Given the description of an element on the screen output the (x, y) to click on. 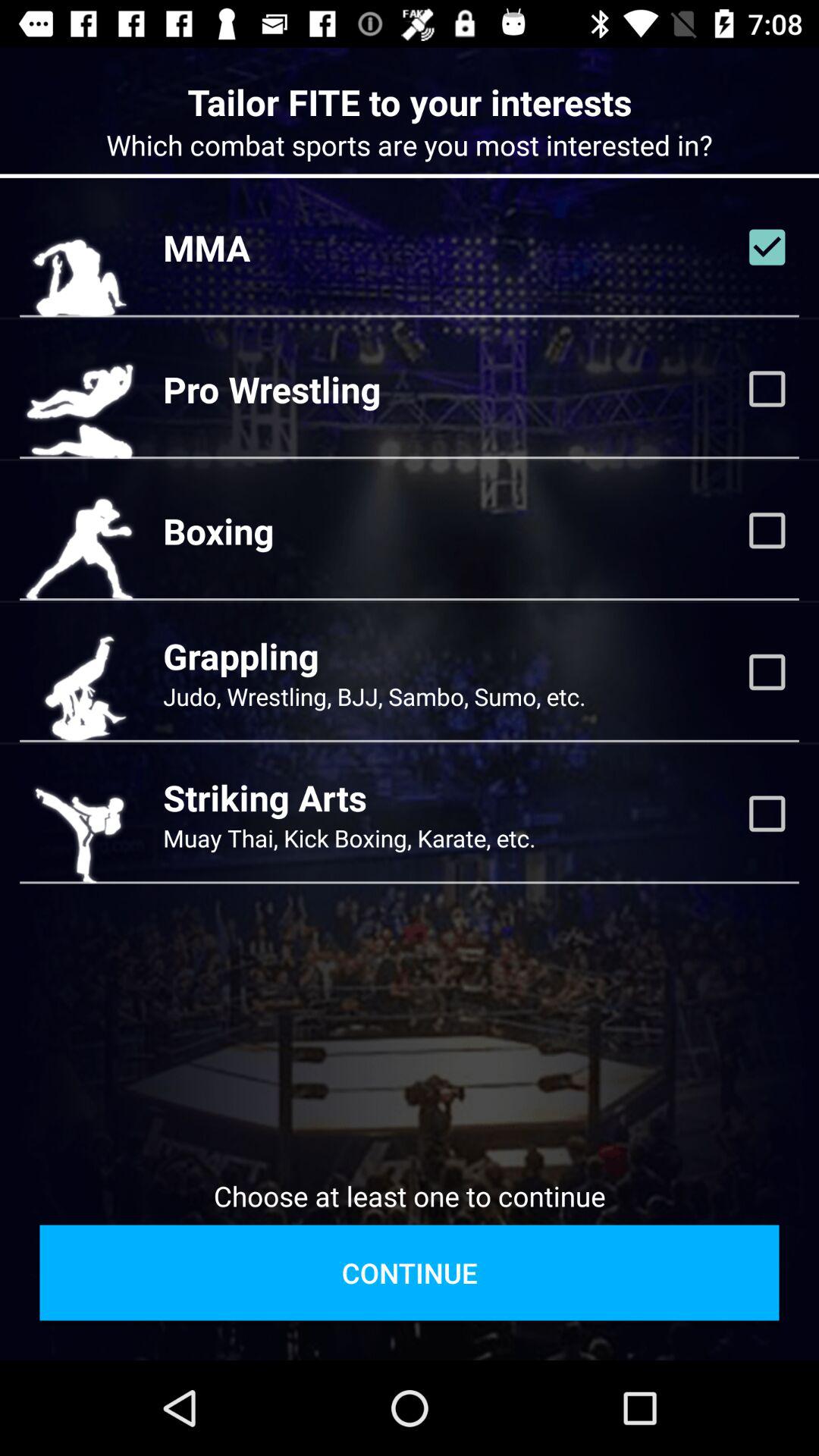
select the icon below striking arts (349, 837)
